Given the description of an element on the screen output the (x, y) to click on. 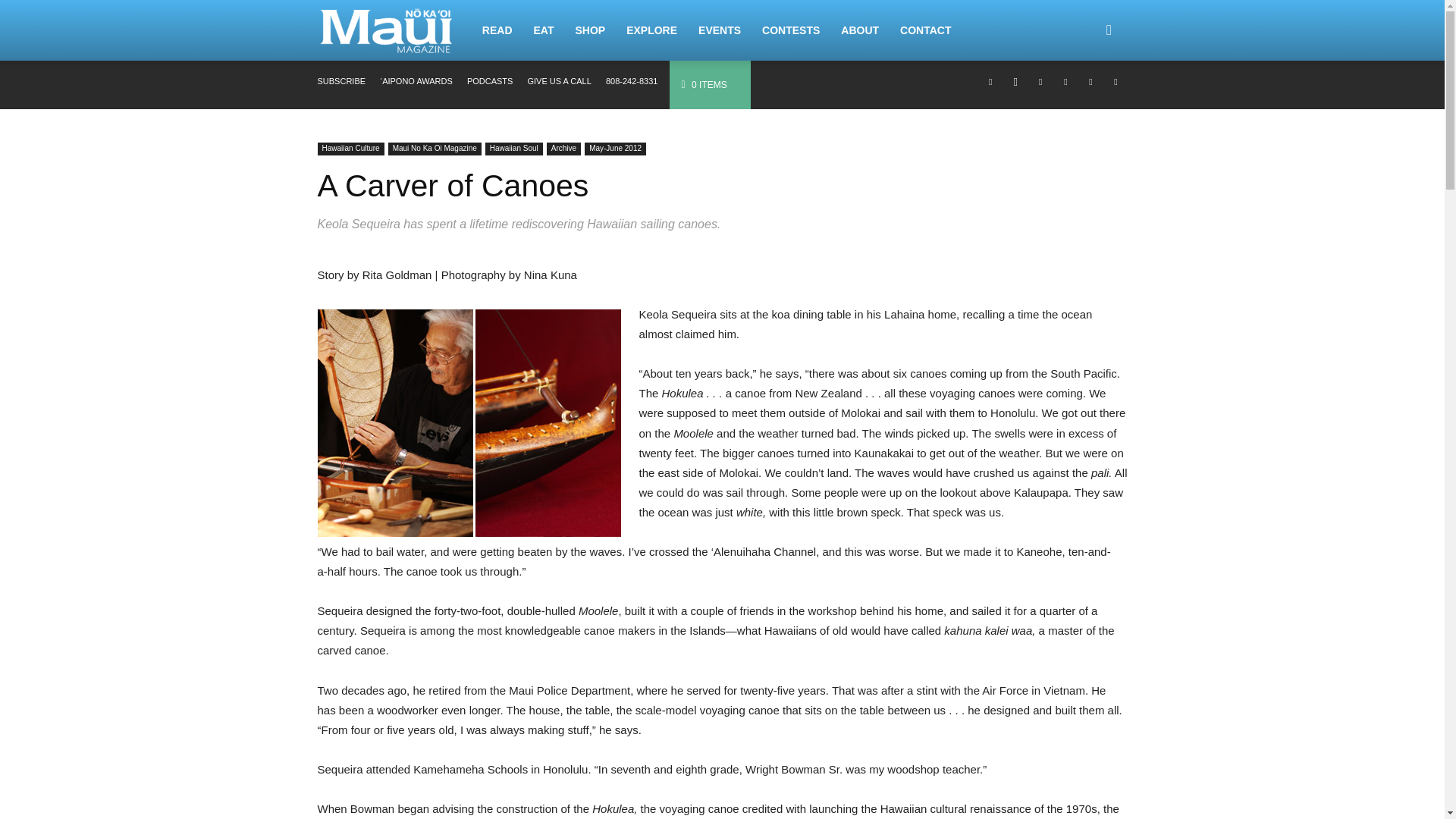
Start shopping (703, 84)
